Given the description of an element on the screen output the (x, y) to click on. 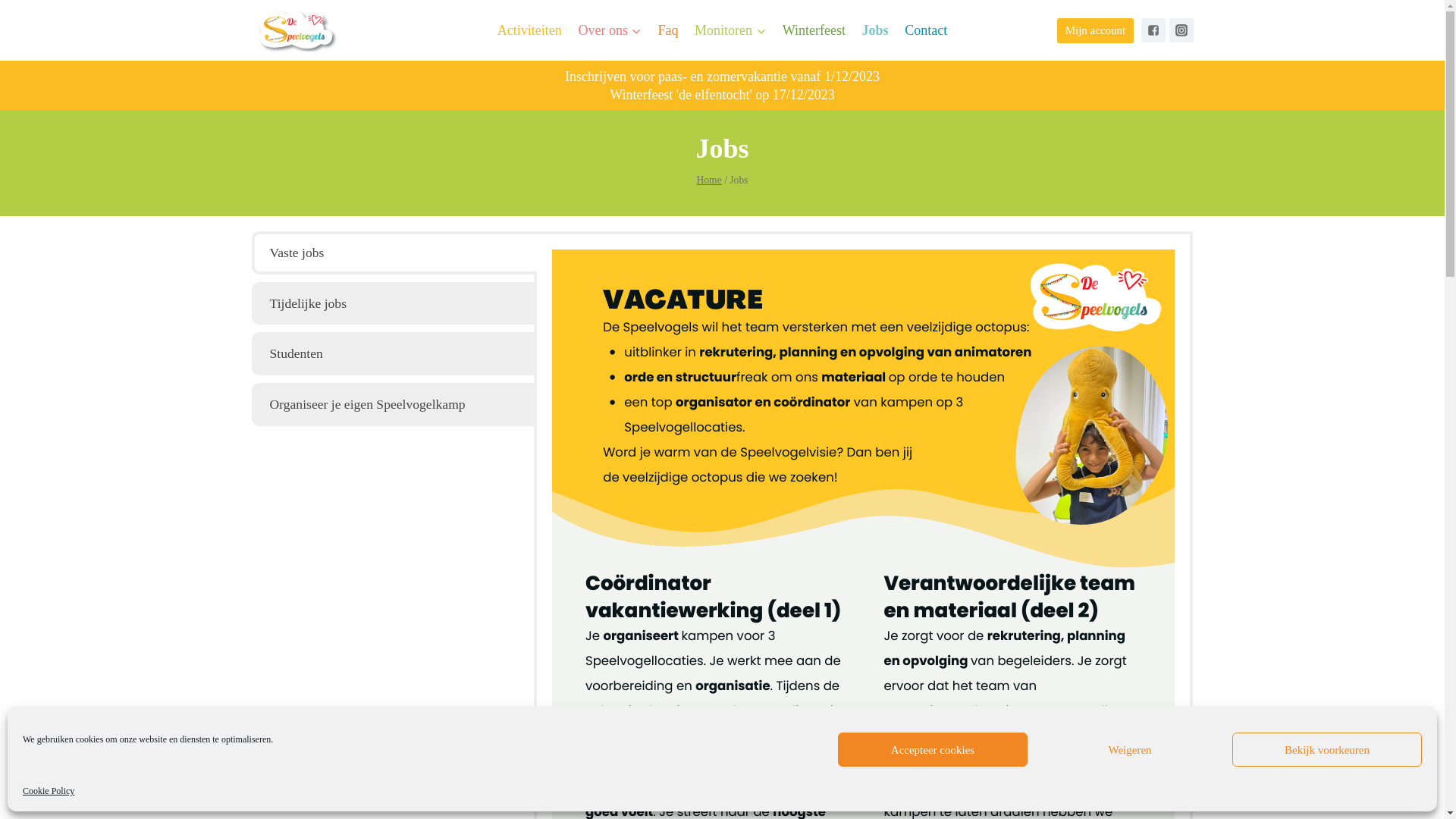
Organiseer je eigen Speelvogelkamp Element type: text (394, 404)
Home Element type: text (708, 179)
Vaste jobs Element type: text (394, 252)
Activiteiten Element type: text (529, 29)
Tijdelijke jobs Element type: text (394, 303)
Accepteer cookies Element type: text (932, 749)
Winterfeest Element type: text (813, 29)
Monitoren Element type: text (730, 29)
Contact Element type: text (925, 29)
Over ons Element type: text (609, 29)
Cookie Policy Element type: text (48, 790)
Weigeren Element type: text (1129, 749)
Jobs Element type: text (875, 29)
Faq Element type: text (668, 29)
Mijn account Element type: text (1095, 30)
Studenten Element type: text (394, 353)
Bekijk voorkeuren Element type: text (1326, 749)
